Given the description of an element on the screen output the (x, y) to click on. 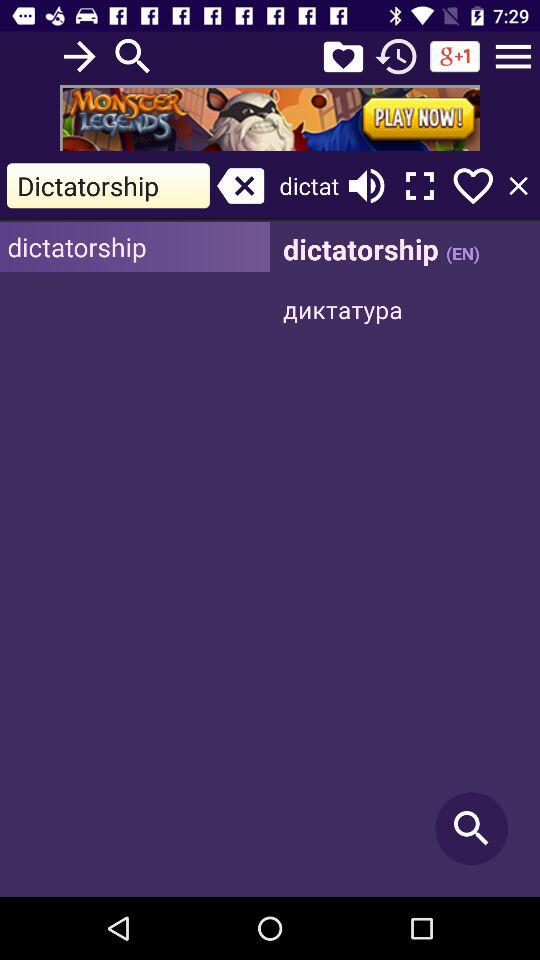
translated word (405, 559)
